Given the description of an element on the screen output the (x, y) to click on. 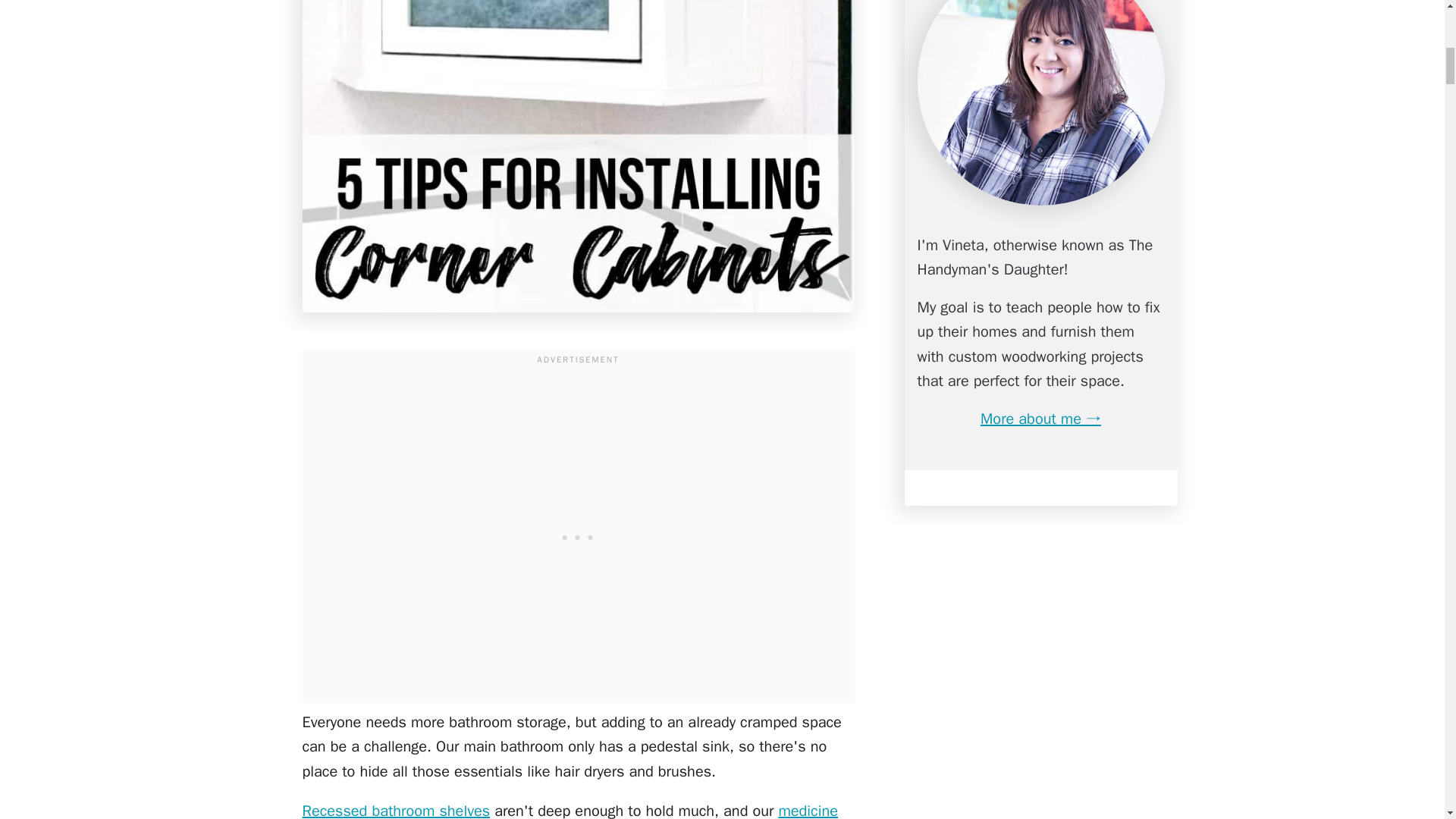
Recessed bathroom shelves (395, 810)
medicine cabinet (569, 810)
